Given the description of an element on the screen output the (x, y) to click on. 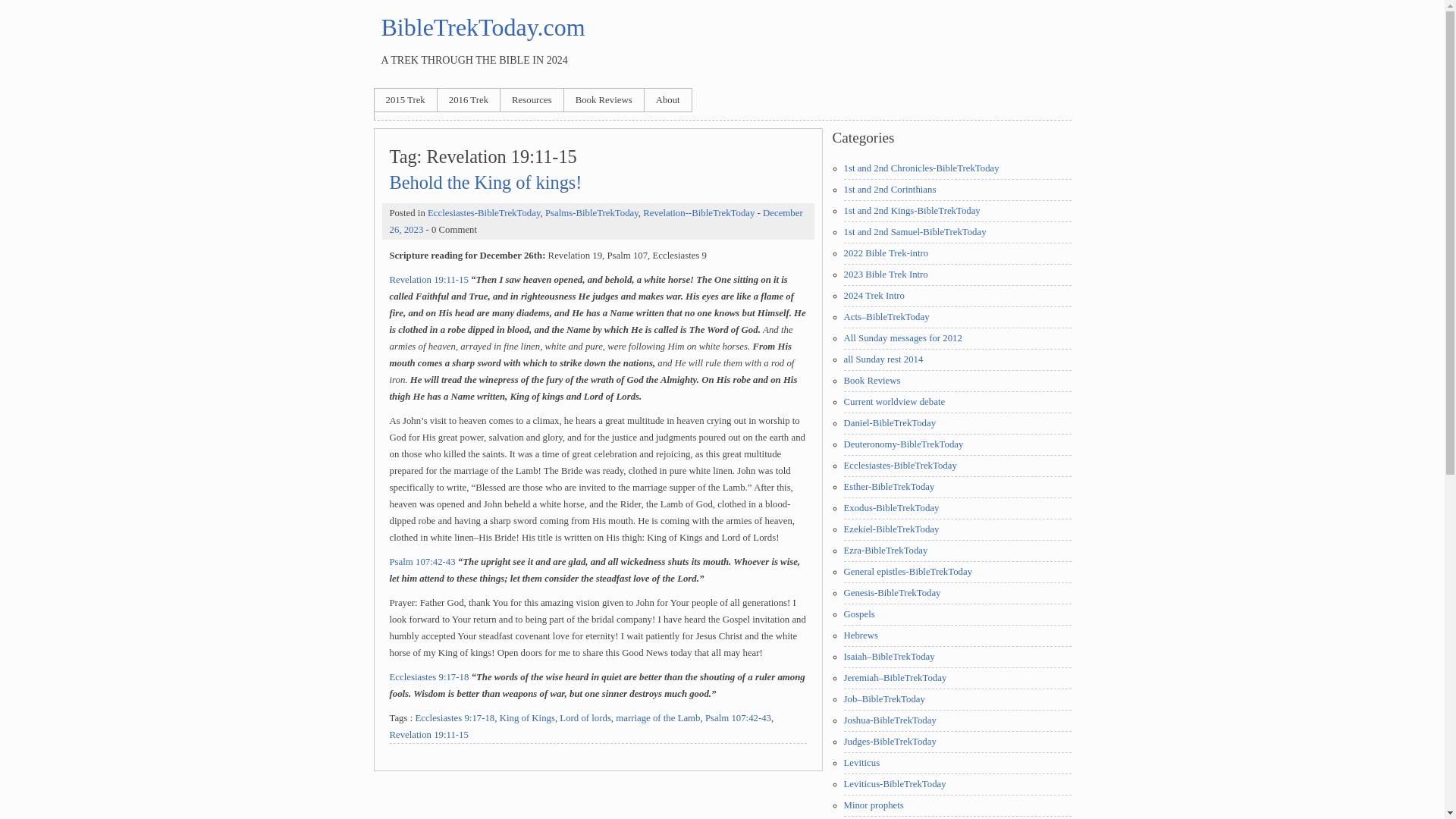
Ecclesiastes 9:17-18 (429, 676)
2015 Trek (405, 99)
All Sunday messages for 2012 (901, 337)
Revelation 19:11-15 (429, 734)
BibleTrekToday.com (482, 26)
Book Reviews (871, 380)
2016 Trek (468, 99)
Ezra-BibleTrekToday (885, 550)
Deuteronomy-BibleTrekToday (902, 443)
Current worldview debate (893, 401)
Revelation--BibleTrekToday (698, 213)
December 26, 2023 (596, 221)
all Sunday rest 2014 (883, 358)
Revelation 19:11-15 (429, 279)
marriage of the Lamb (657, 717)
